Given the description of an element on the screen output the (x, y) to click on. 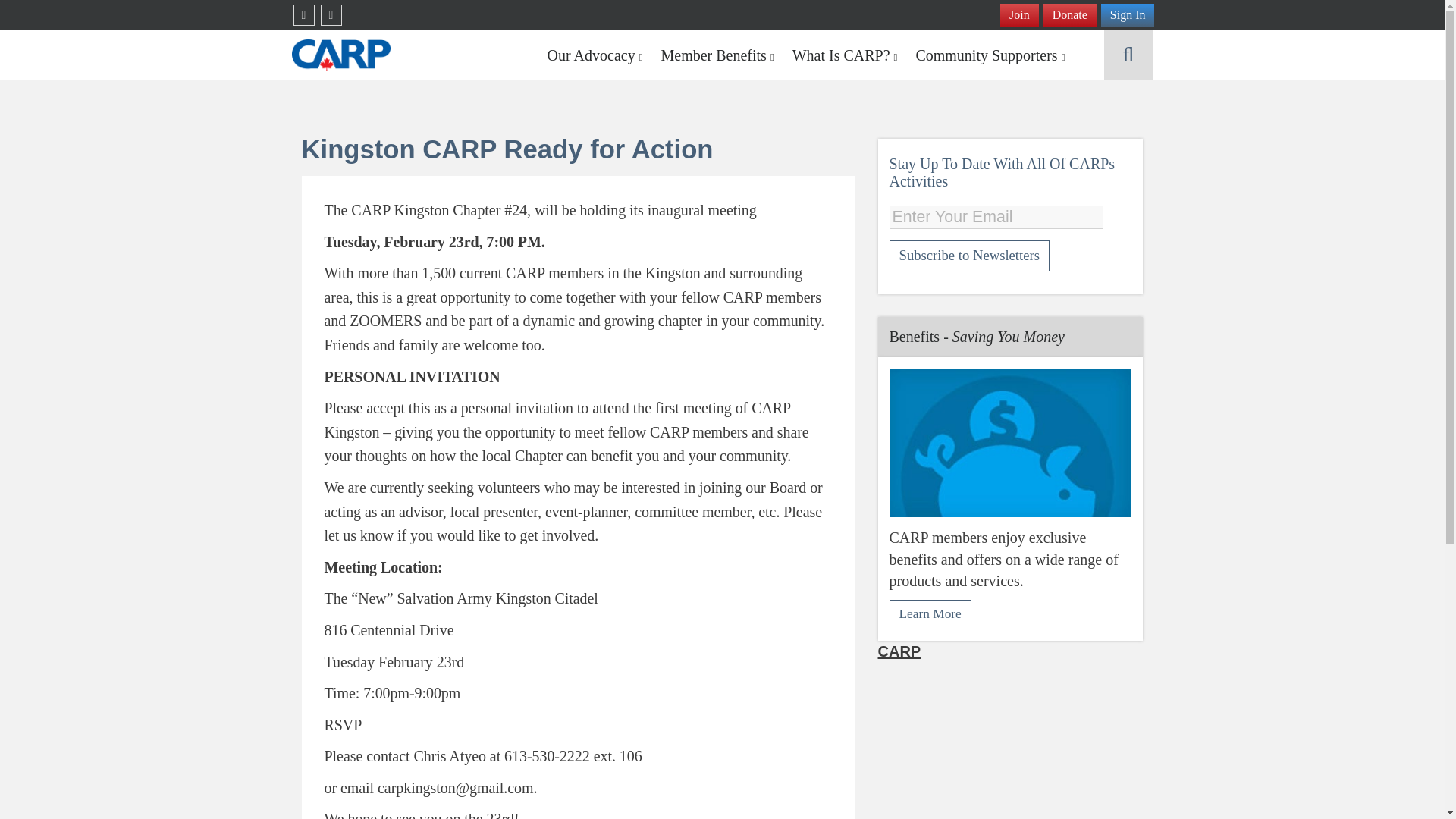
Sign In (1127, 15)
Join (1019, 15)
Donate (1069, 15)
